Given the description of an element on the screen output the (x, y) to click on. 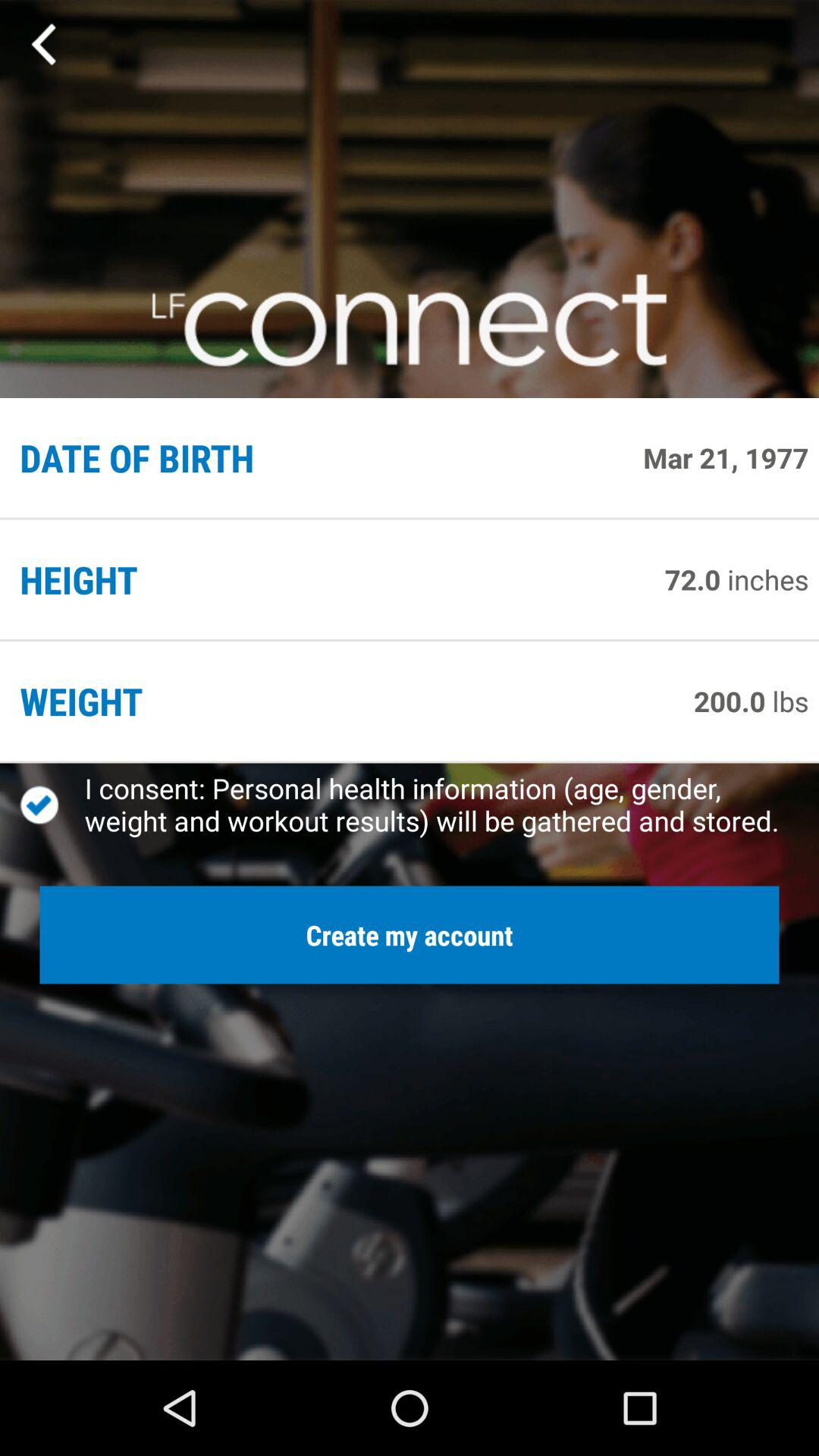
open the app above the date of birth (44, 44)
